Given the description of an element on the screen output the (x, y) to click on. 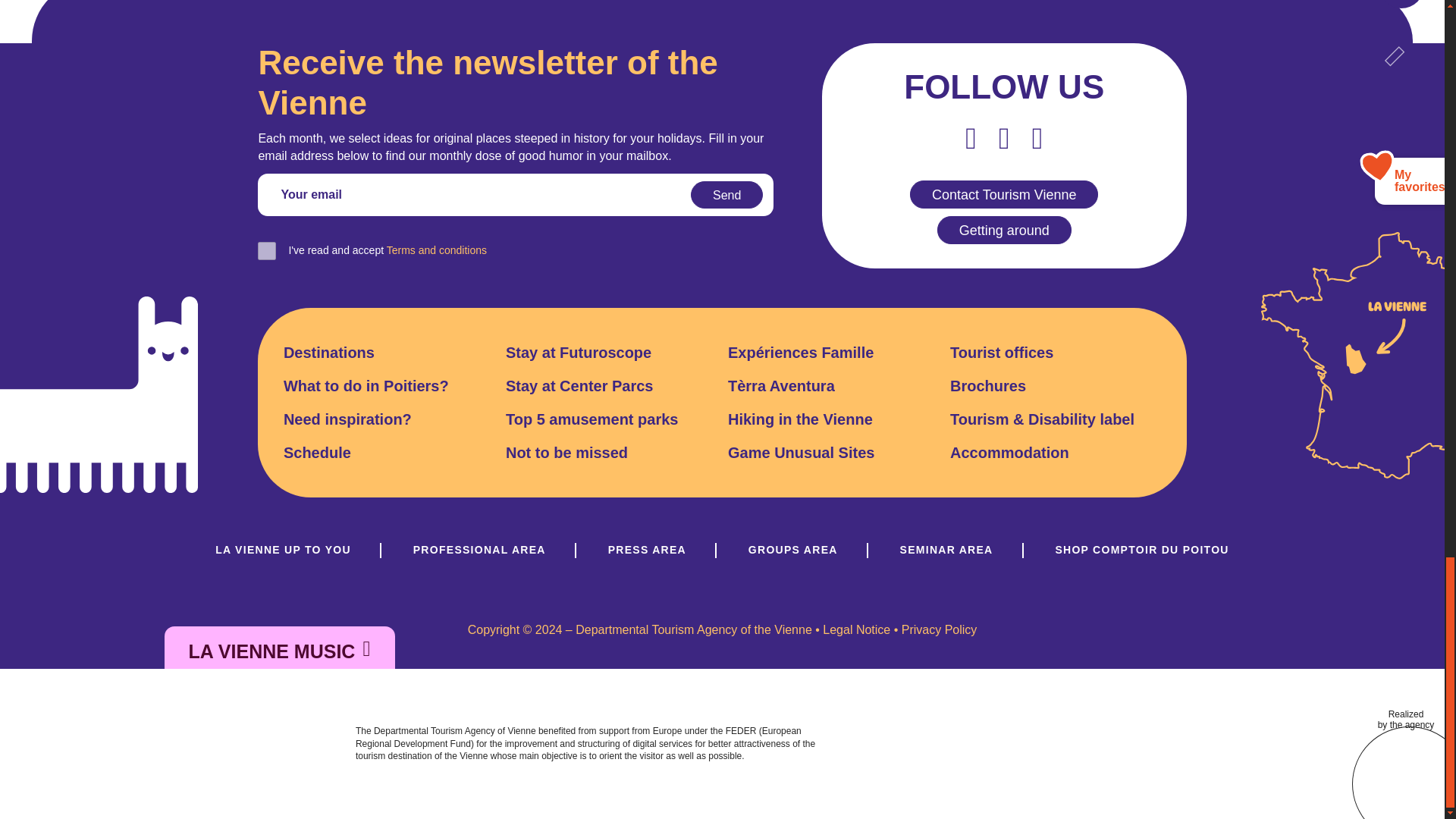
Destinations (328, 352)
What to do in Poitiers? (365, 385)
Send (726, 194)
Contact Tourism Vienne (1003, 194)
Getting around (1004, 230)
1 (266, 250)
Facebook (970, 137)
Instagram (1037, 137)
Youtube (1004, 137)
Need inspiration? (347, 418)
